Given the description of an element on the screen output the (x, y) to click on. 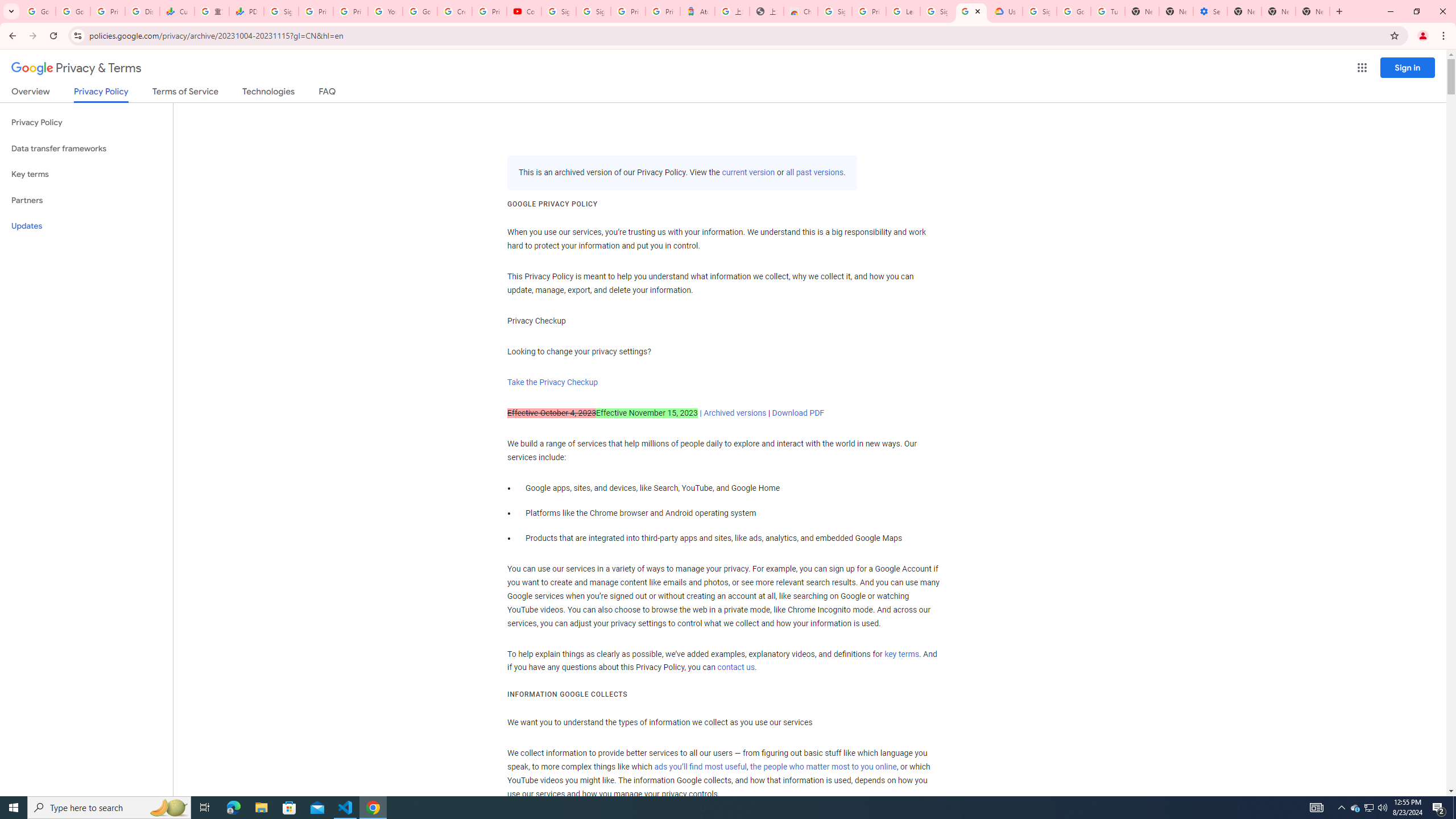
PDD Holdings Inc - ADR (PDD) Price & News - Google Finance (246, 11)
Take the Privacy Checkup (552, 381)
Content Creator Programs & Opportunities - YouTube Creators (524, 11)
Google Account Help (1073, 11)
YouTube (384, 11)
